Given the description of an element on the screen output the (x, y) to click on. 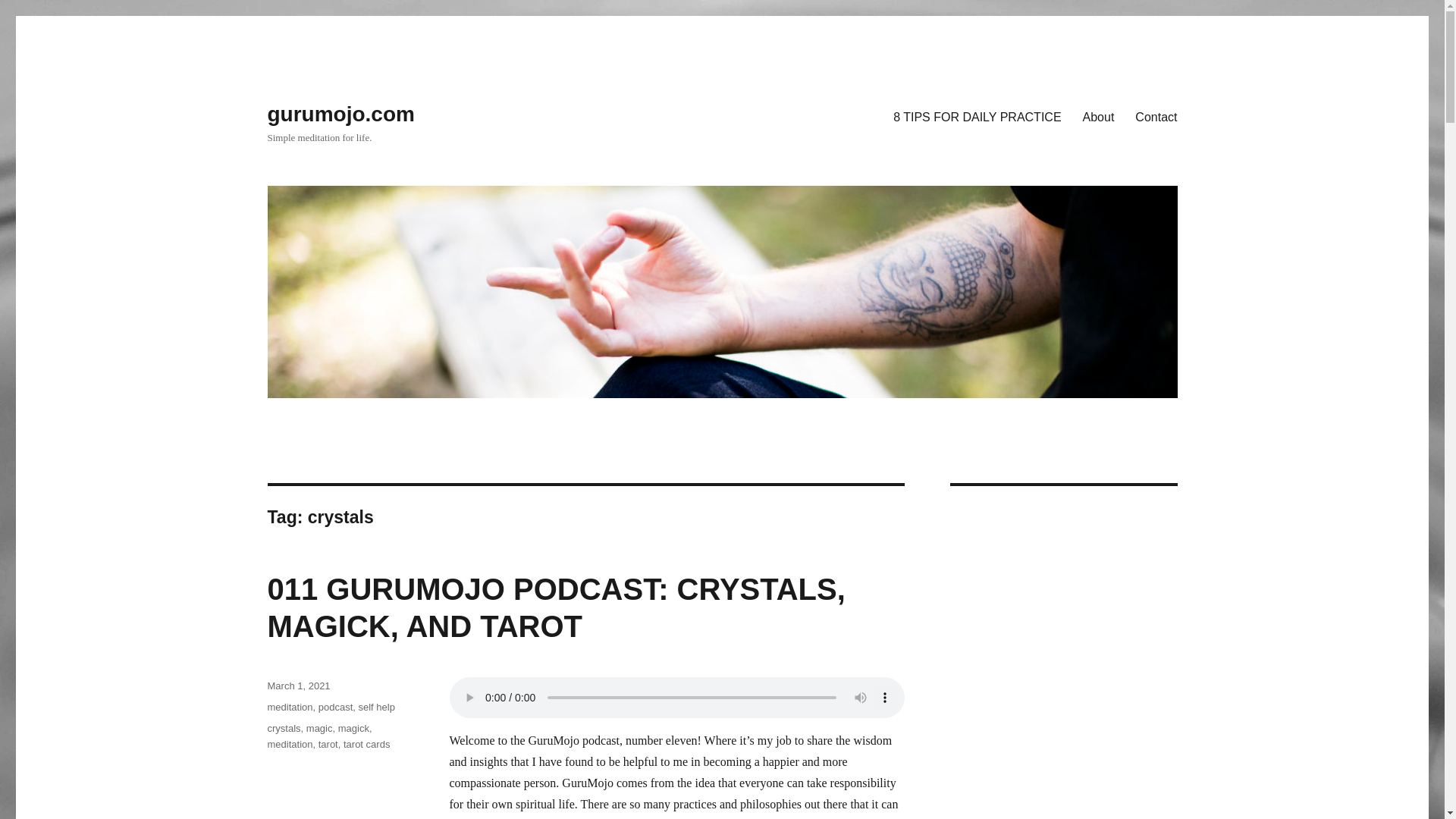
tarot (327, 744)
March 1, 2021 (298, 685)
crystals (282, 727)
About (1098, 116)
magick (353, 727)
self help (376, 706)
011 GURUMOJO PODCAST: CRYSTALS, MAGICK, AND TAROT (555, 607)
magic (319, 727)
meditation (289, 744)
meditation (289, 706)
tarot cards (366, 744)
8 TIPS FOR DAILY PRACTICE (976, 116)
Contact (1156, 116)
gurumojo.com (339, 114)
podcast (335, 706)
